Given the description of an element on the screen output the (x, y) to click on. 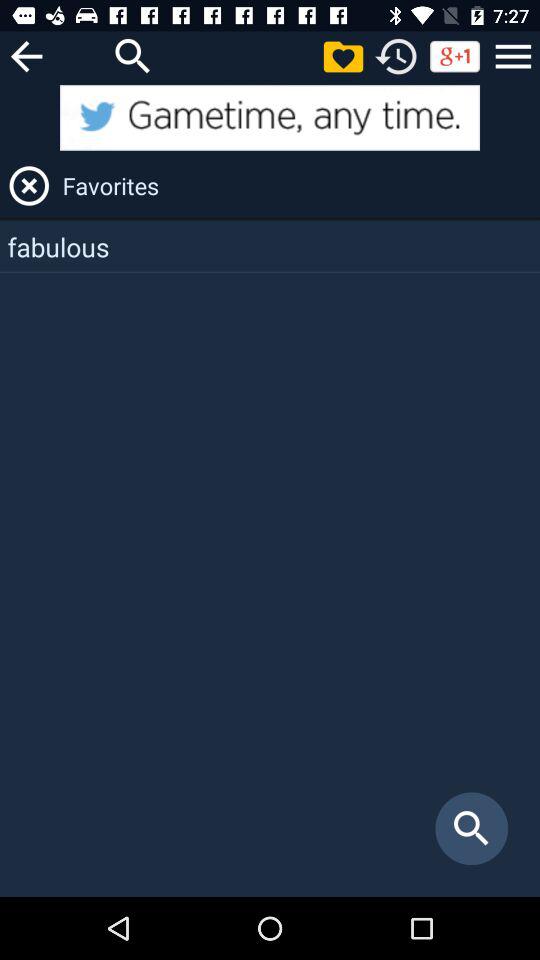
jump to fabulous app (270, 246)
